Given the description of an element on the screen output the (x, y) to click on. 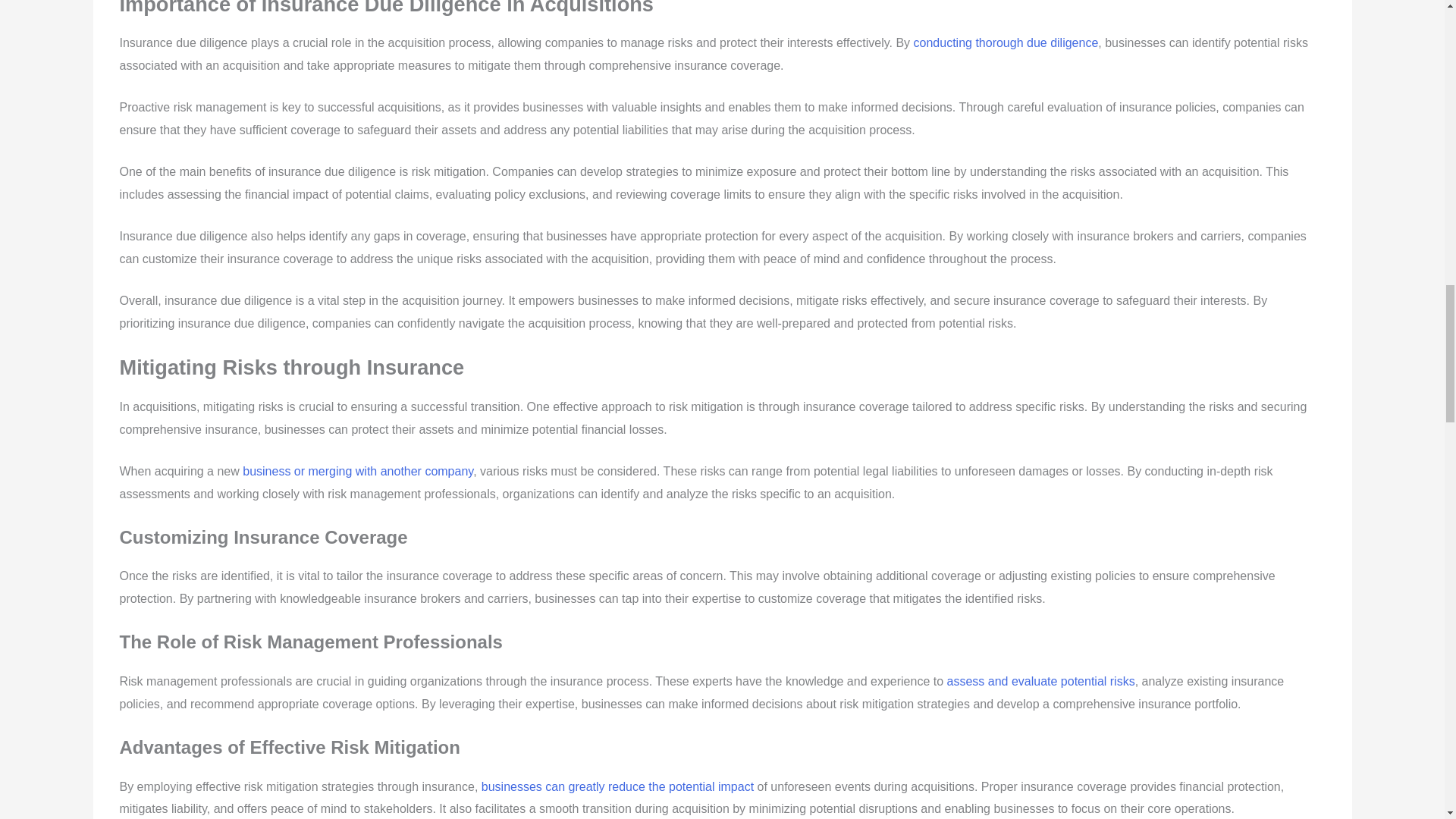
assess and evaluate potential risks (1041, 680)
business or merging with another company (358, 471)
businesses can greatly reduce the potential impact (617, 786)
conducting thorough due diligence (1006, 42)
